Given the description of an element on the screen output the (x, y) to click on. 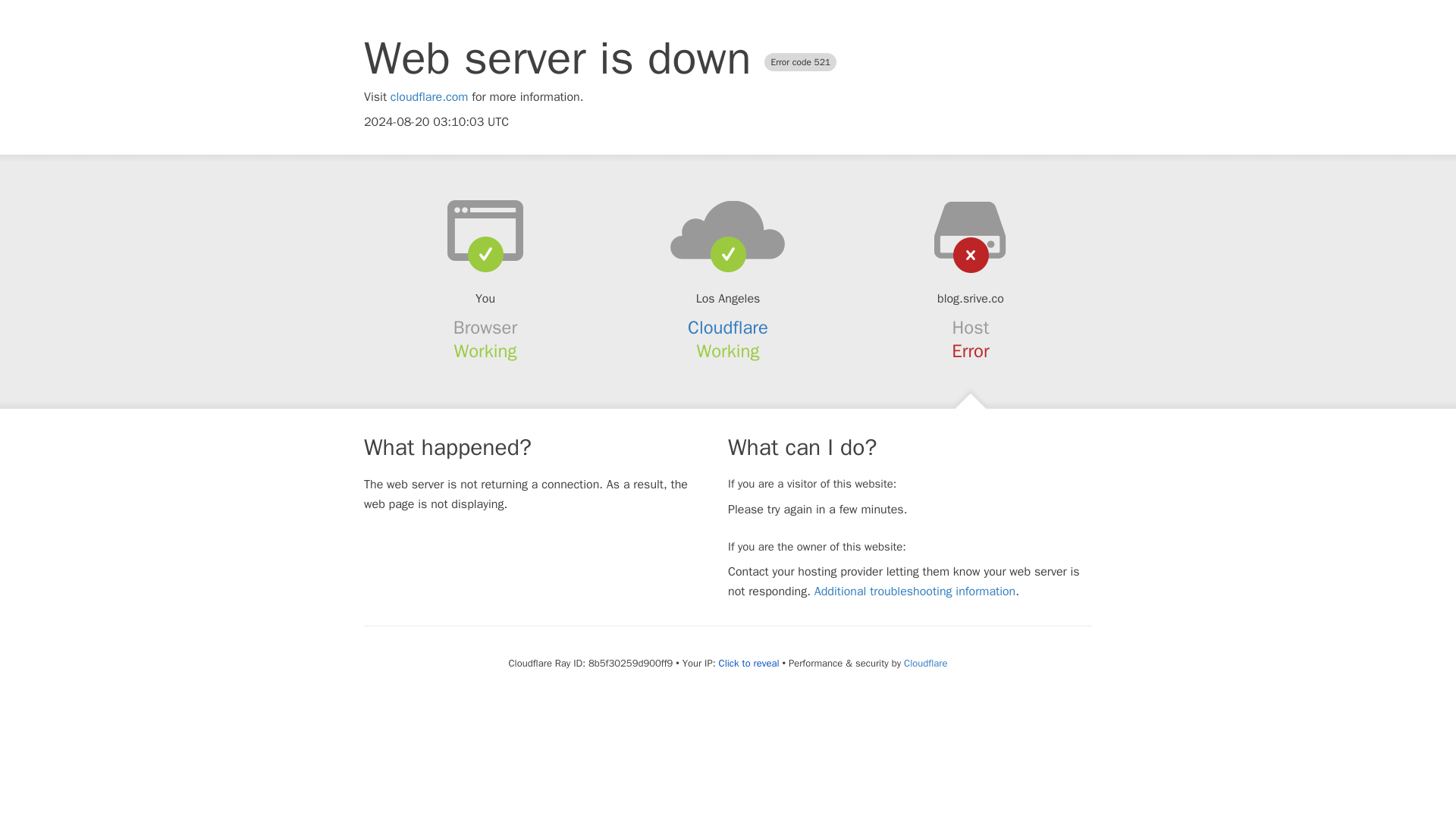
Cloudflare (727, 327)
Additional troubleshooting information (913, 590)
Cloudflare (925, 662)
Click to reveal (748, 663)
cloudflare.com (429, 96)
